Given the description of an element on the screen output the (x, y) to click on. 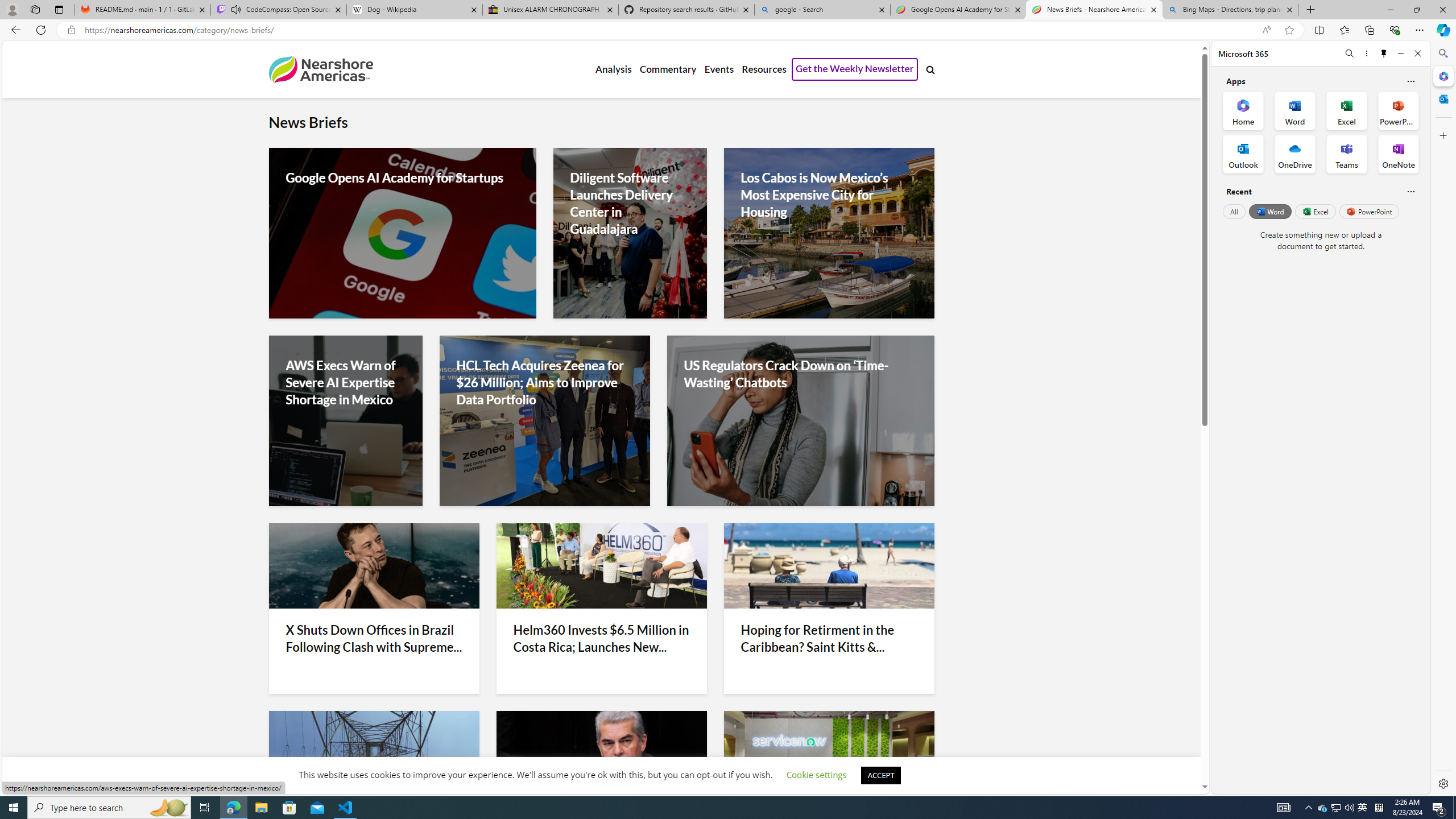
Word (1269, 210)
News Briefs - Nearshore Americas (1094, 9)
Musk Brazil X (373, 565)
Helm360 (601, 565)
Teams Office App (1346, 154)
PowerPoint (1369, 210)
AWS Execs Warn of Severe AI Expertise Shortage in Mexico (345, 382)
Google Opens AI Academy for Startups - Nearshore Americas (957, 9)
Cookie settings (816, 774)
Commentary (667, 69)
